Given the description of an element on the screen output the (x, y) to click on. 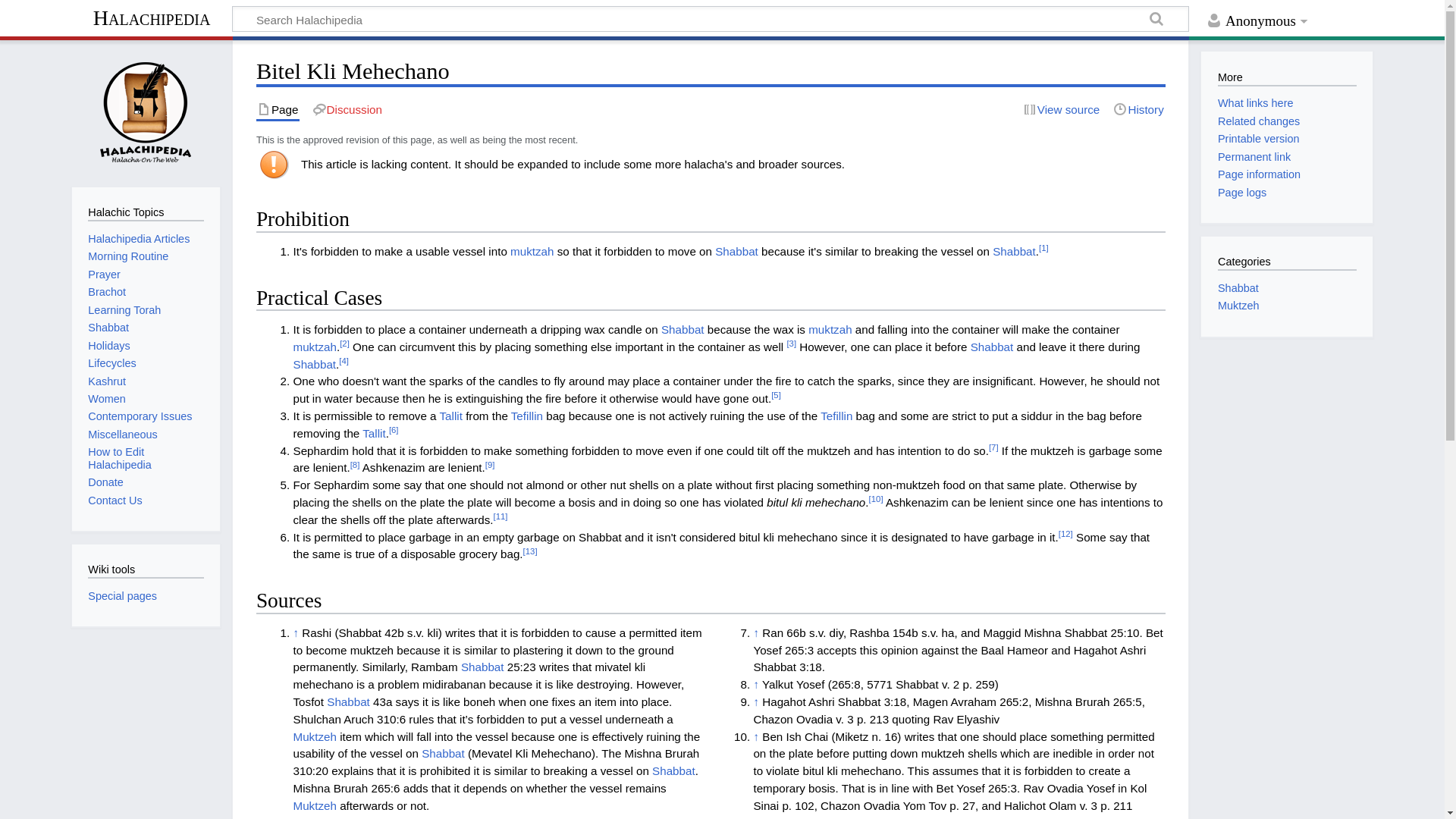
Go to a page with this exact name if it exists (1155, 21)
Shabbat (314, 364)
Muktzeh (314, 736)
Shabbat (482, 666)
Shabbat (443, 753)
View source (1061, 109)
Halachipedia (151, 19)
Tefillin (527, 415)
Shabbat (682, 328)
Shabbat (314, 364)
muktzah (314, 346)
Shabbat (736, 250)
Muktzah (314, 346)
Shabbat (347, 701)
History (1138, 109)
